Given the description of an element on the screen output the (x, y) to click on. 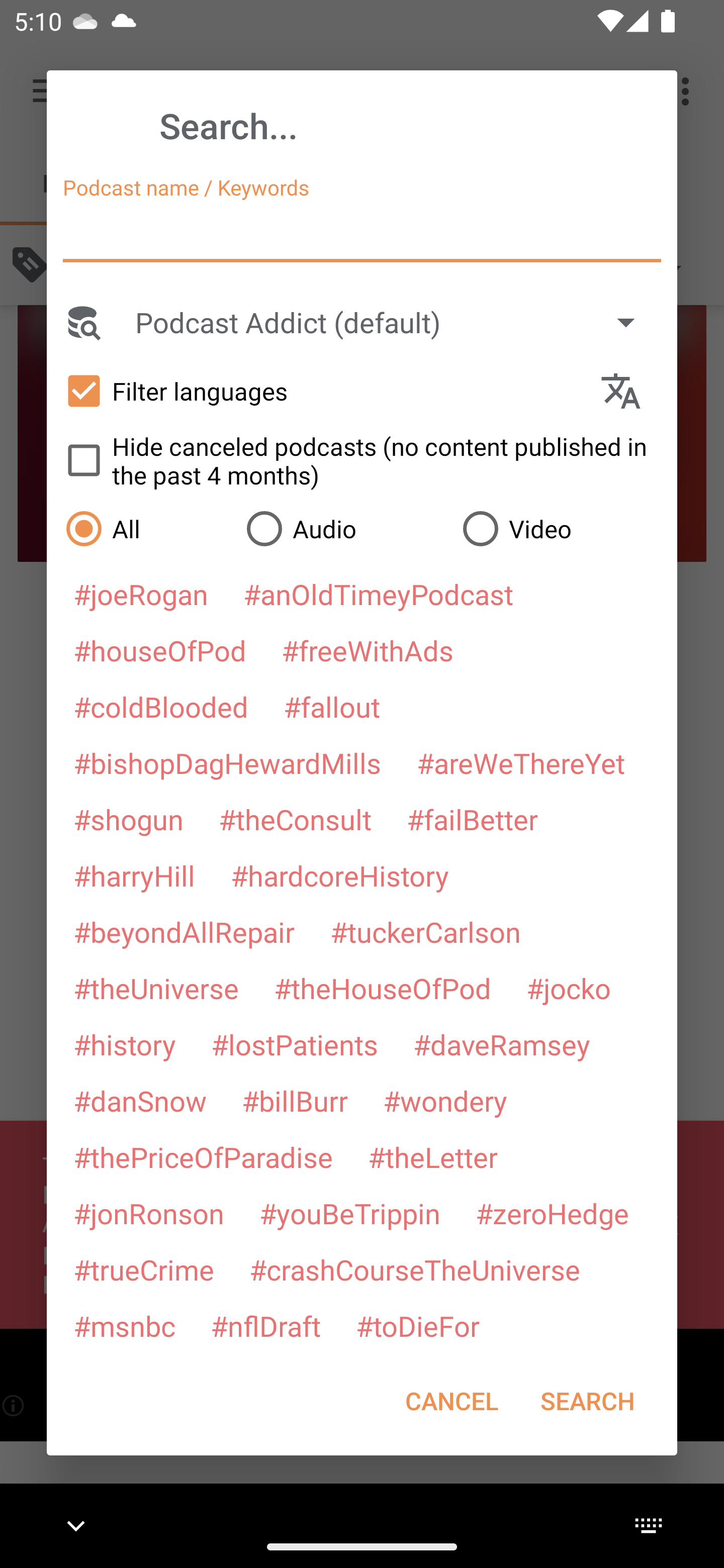
Podcast name / Keywords (361, 234)
Search Engine (82, 322)
Podcast Addict (default) (394, 322)
Languages selection (629, 390)
Filter languages (322, 390)
All (145, 528)
Audio (344, 528)
Video (560, 528)
#joeRogan (140, 594)
#anOldTimeyPodcast (378, 594)
#houseOfPod (159, 650)
#freeWithAds (367, 650)
#coldBlooded (160, 705)
#fallout (331, 705)
#bishopDagHewardMills (227, 762)
#areWeThereYet (521, 762)
#shogun (128, 818)
#theConsult (294, 818)
#failBetter (471, 818)
#harryHill (134, 875)
#hardcoreHistory (339, 875)
#beyondAllRepair (184, 931)
#tuckerCarlson (425, 931)
#theUniverse (155, 987)
#theHouseOfPod (381, 987)
#jocko (568, 987)
#history (124, 1044)
#lostPatients (294, 1044)
#daveRamsey (501, 1044)
#danSnow (139, 1100)
#billBurr (294, 1100)
#wondery (444, 1100)
#thePriceOfParadise (203, 1157)
#theLetter (432, 1157)
#jonRonson (148, 1213)
#youBeTrippin (349, 1213)
#zeroHedge (552, 1213)
#trueCrime (143, 1268)
#crashCourseTheUniverse (414, 1268)
#msnbc (124, 1325)
#nflDraft (265, 1325)
#toDieFor (417, 1325)
CANCEL (451, 1400)
SEARCH (587, 1400)
